Given the description of an element on the screen output the (x, y) to click on. 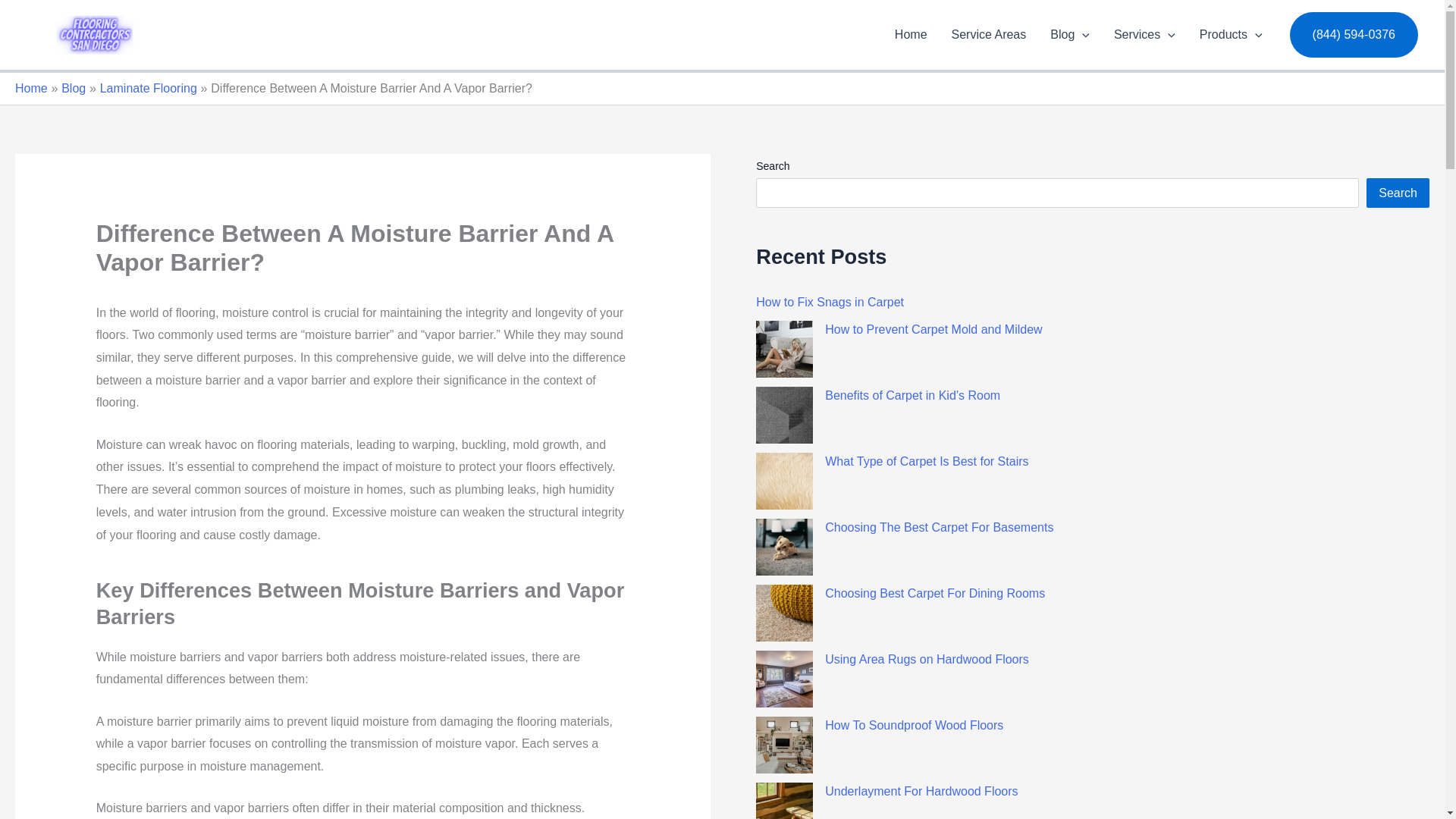
Blog (1070, 34)
Service Areas (989, 34)
Products (1231, 34)
Home (910, 34)
Services (1145, 34)
